Given the description of an element on the screen output the (x, y) to click on. 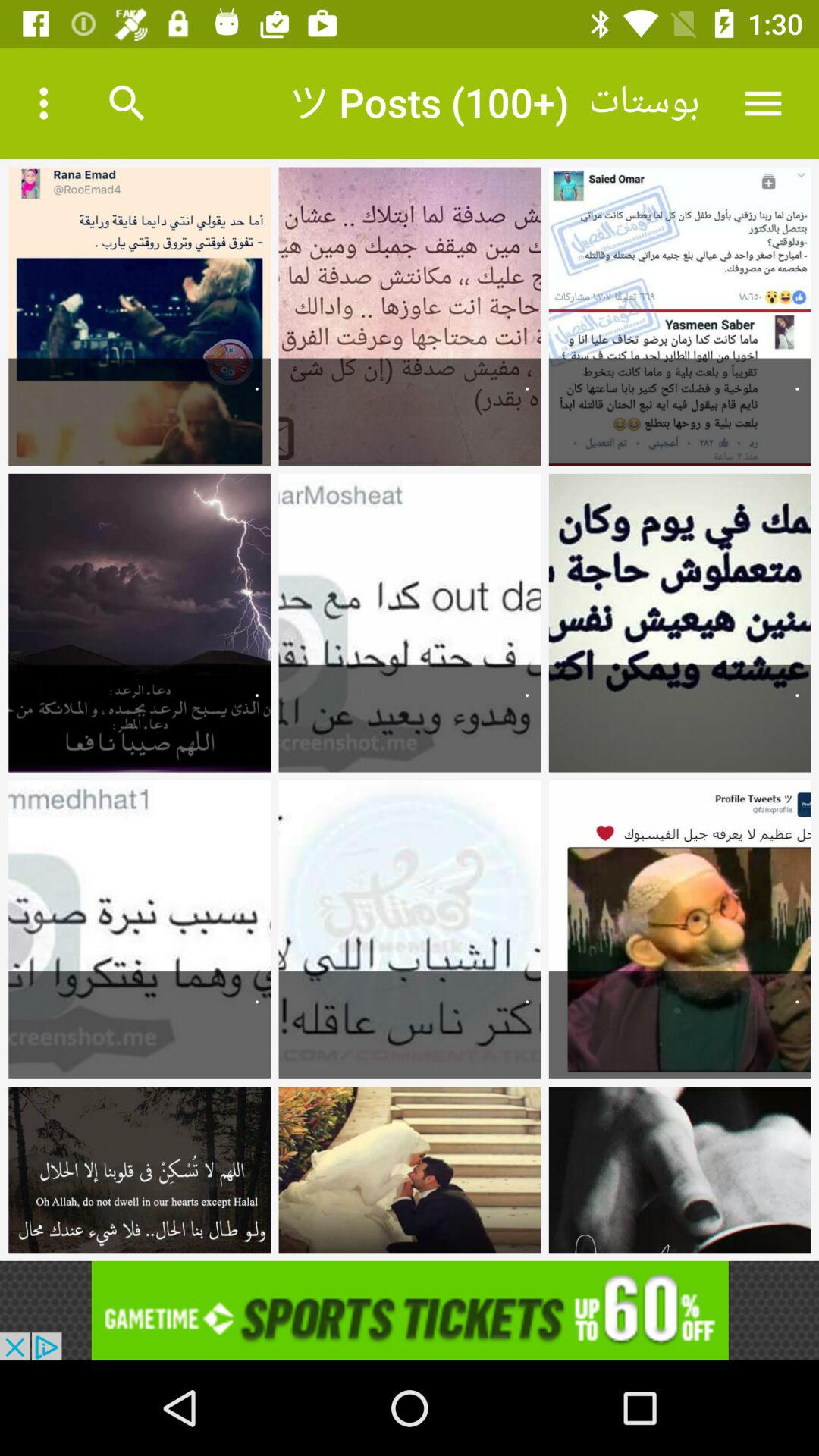
details about advertisement (409, 1310)
